Given the description of an element on the screen output the (x, y) to click on. 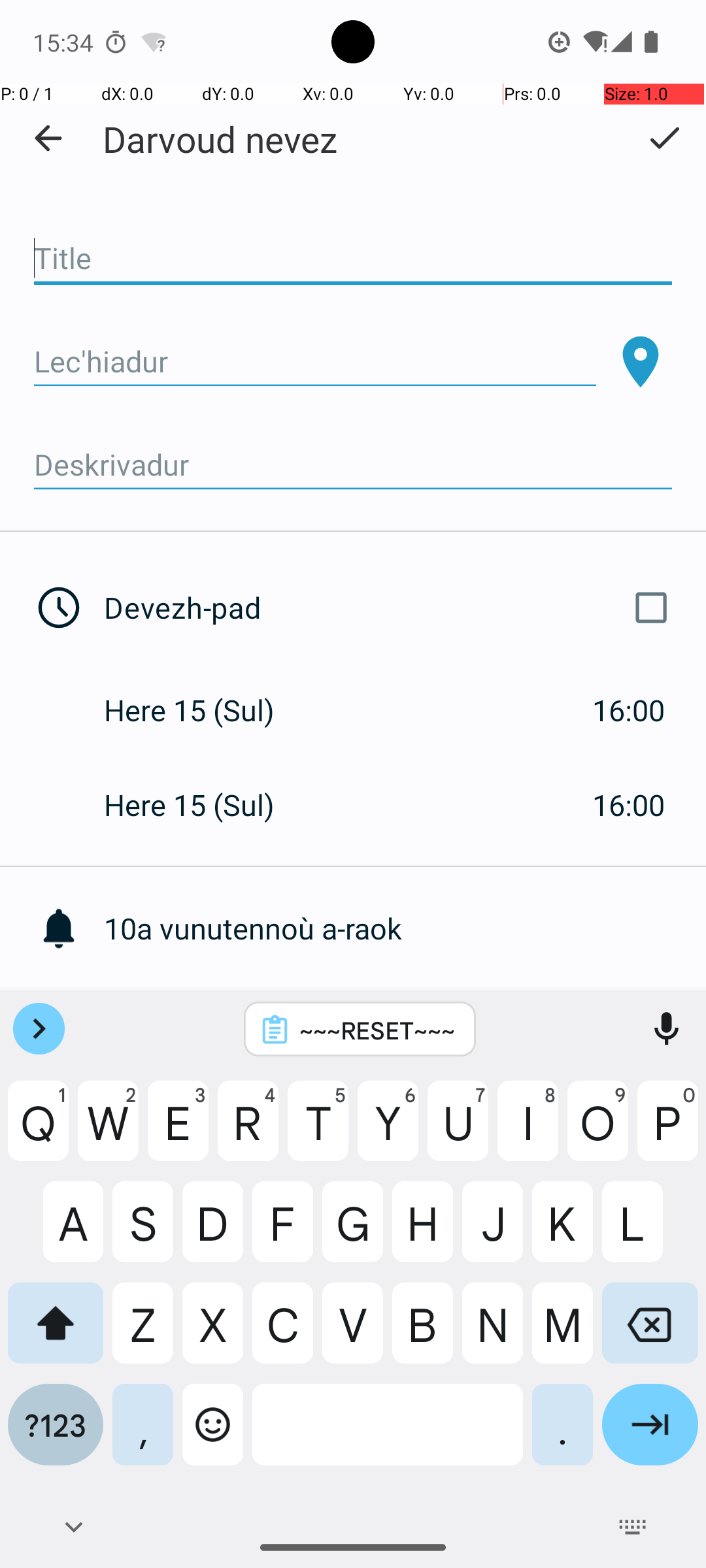
Darvoud nevez Element type: android.widget.TextView (219, 138)
Lec'hiadur Element type: android.widget.EditText (314, 361)
Deskrivadur Element type: android.widget.EditText (352, 465)
Here 15 (Sul) Element type: android.widget.TextView (202, 709)
10a vunutennoù a-raok Element type: android.widget.TextView (404, 927)
Ouzhpennañ un adc'halv all Element type: android.widget.TextView (404, 1022)
Devezh-pad Element type: android.widget.CheckBox (390, 607)
